Given the description of an element on the screen output the (x, y) to click on. 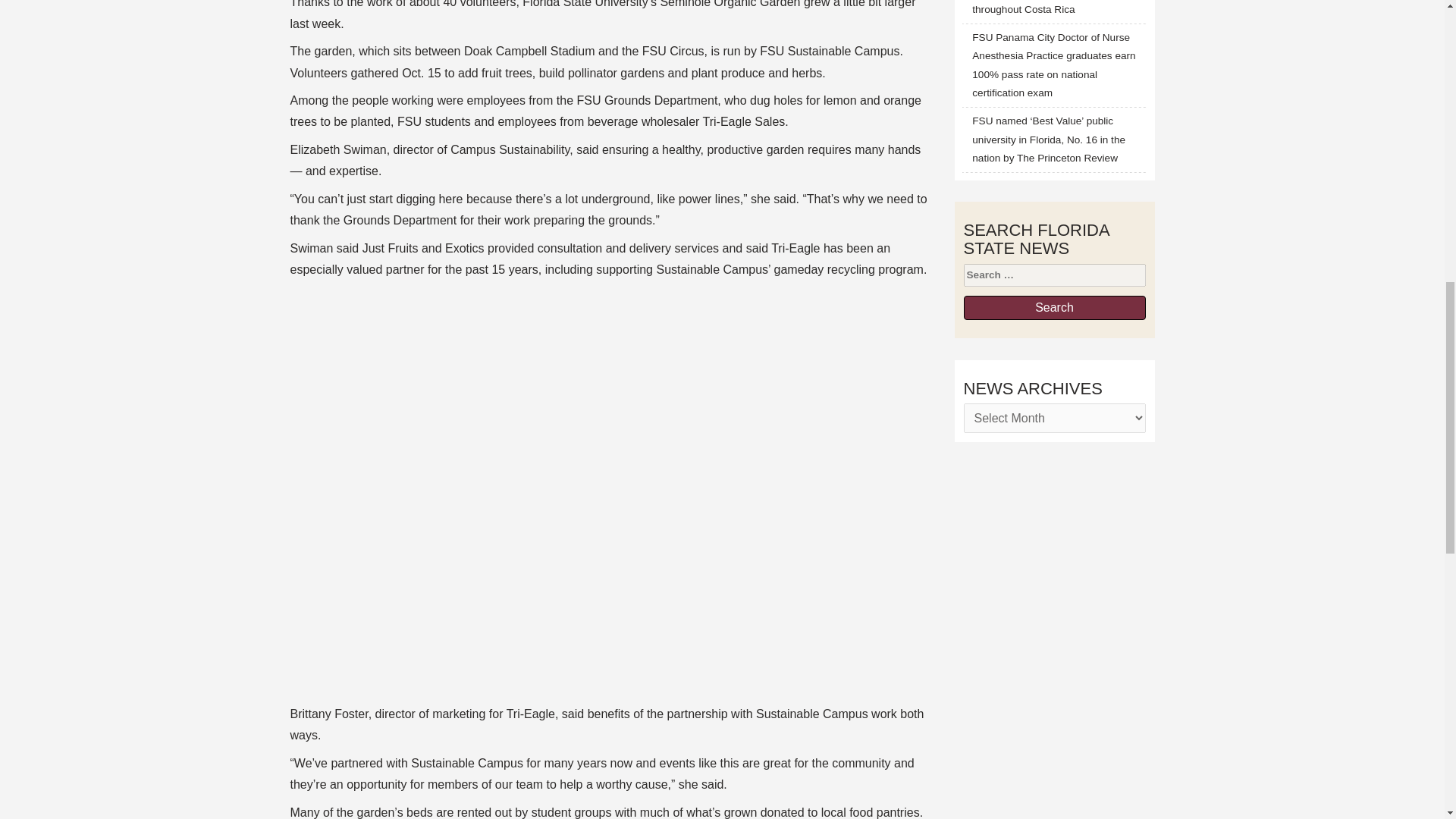
Search (1053, 307)
